Given the description of an element on the screen output the (x, y) to click on. 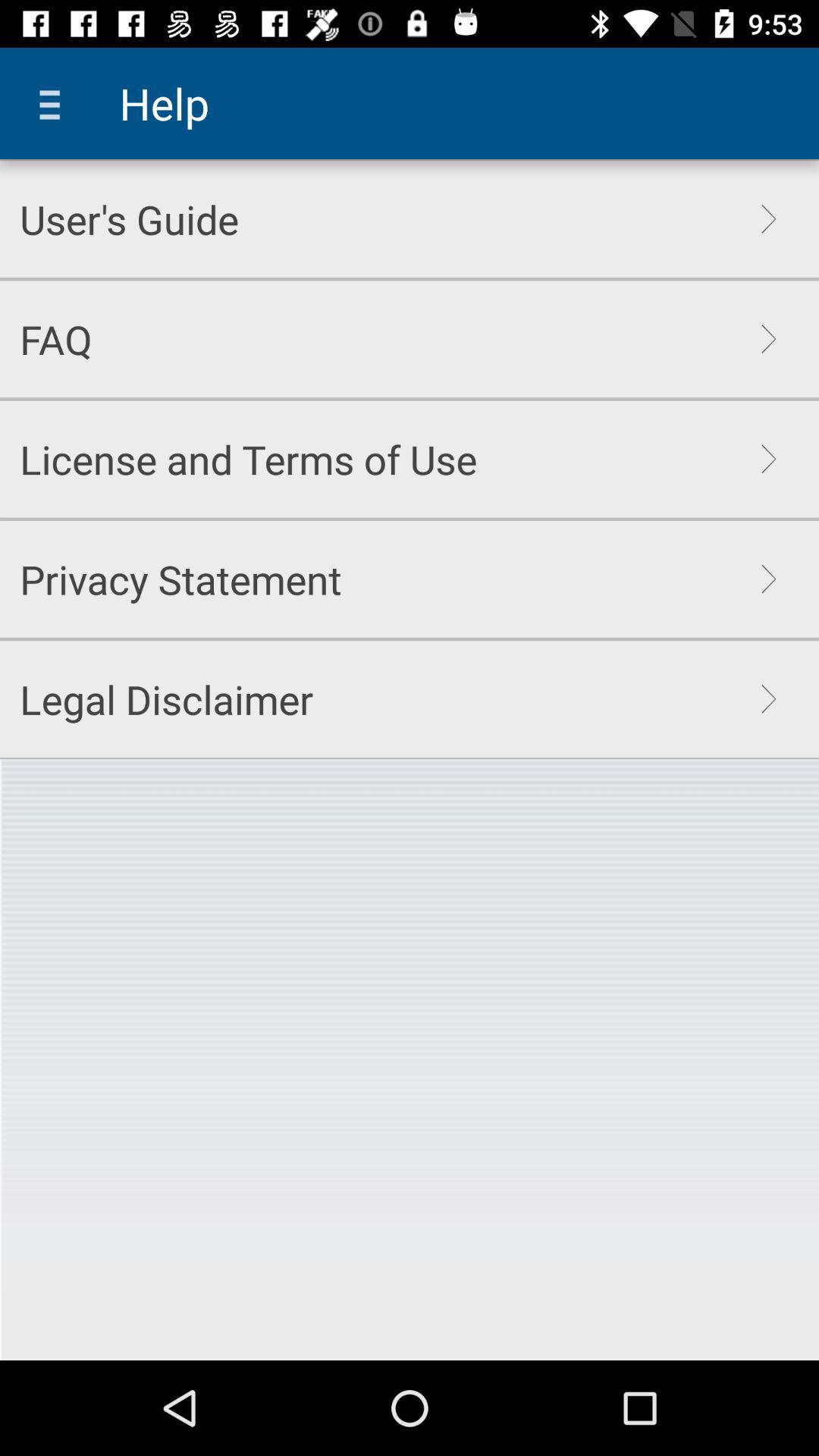
turn on item above license and terms (56, 338)
